Given the description of an element on the screen output the (x, y) to click on. 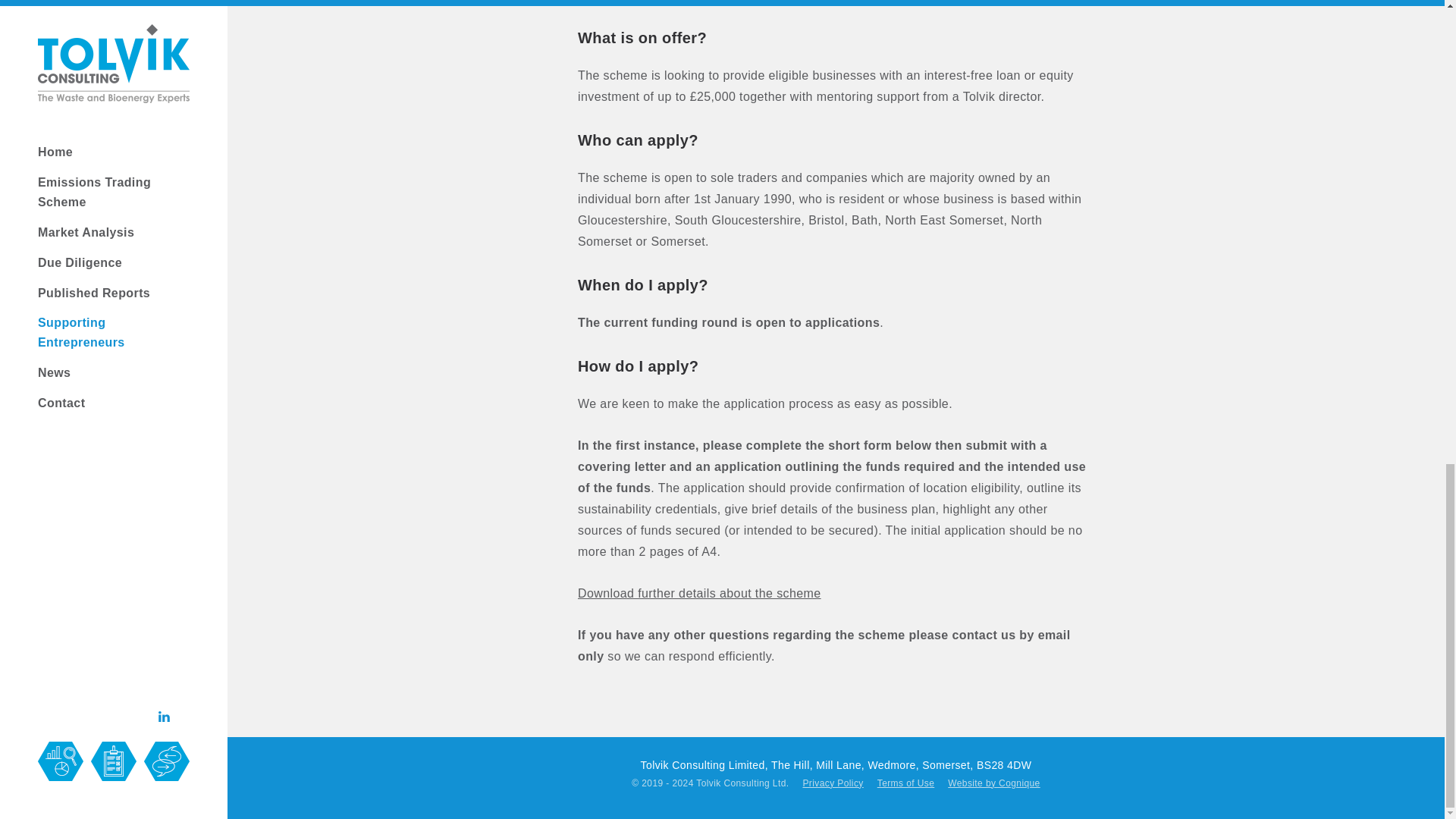
Download further details about the scheme (699, 593)
Terms of Use (905, 783)
Privacy Policy (831, 783)
Website by Cognique (993, 783)
Website by Cognique (993, 783)
Terms of Use (905, 783)
Privacy Policy (831, 783)
